Given the description of an element on the screen output the (x, y) to click on. 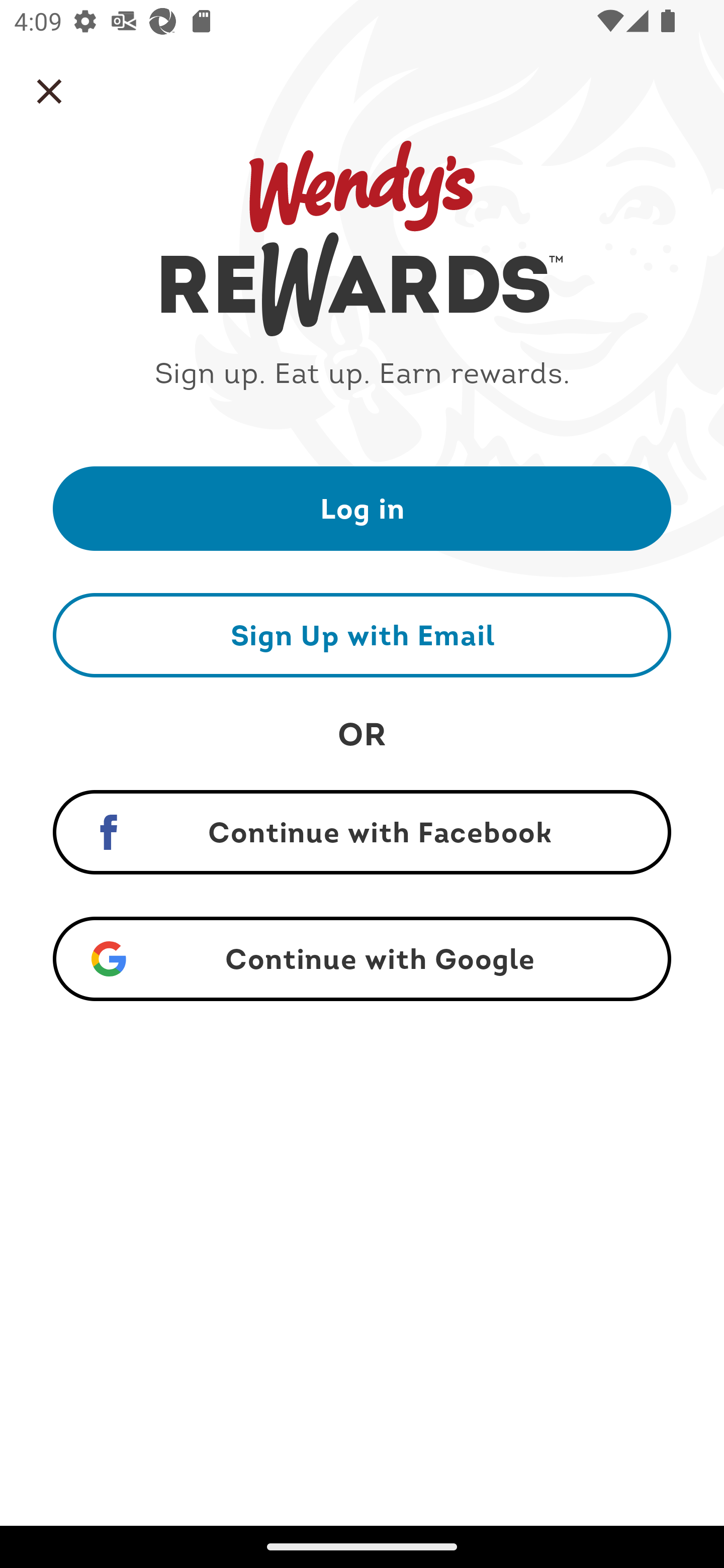
close (49, 91)
Log in (361, 507)
Sign Up with Email (361, 634)
Continue with Facebook (361, 832)
Continue with Google (361, 958)
